Given the description of an element on the screen output the (x, y) to click on. 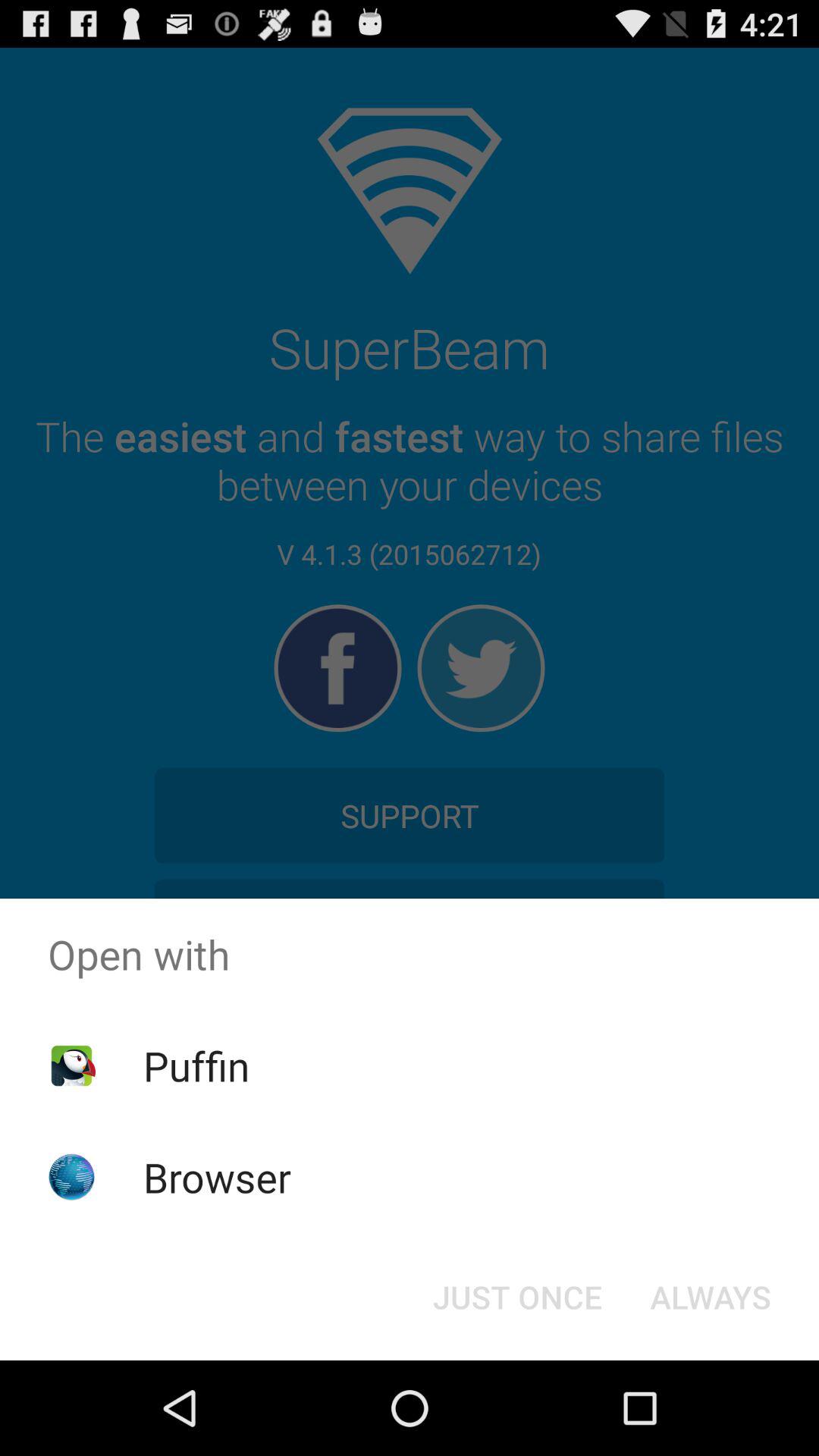
choose button to the left of always icon (517, 1296)
